Given the description of an element on the screen output the (x, y) to click on. 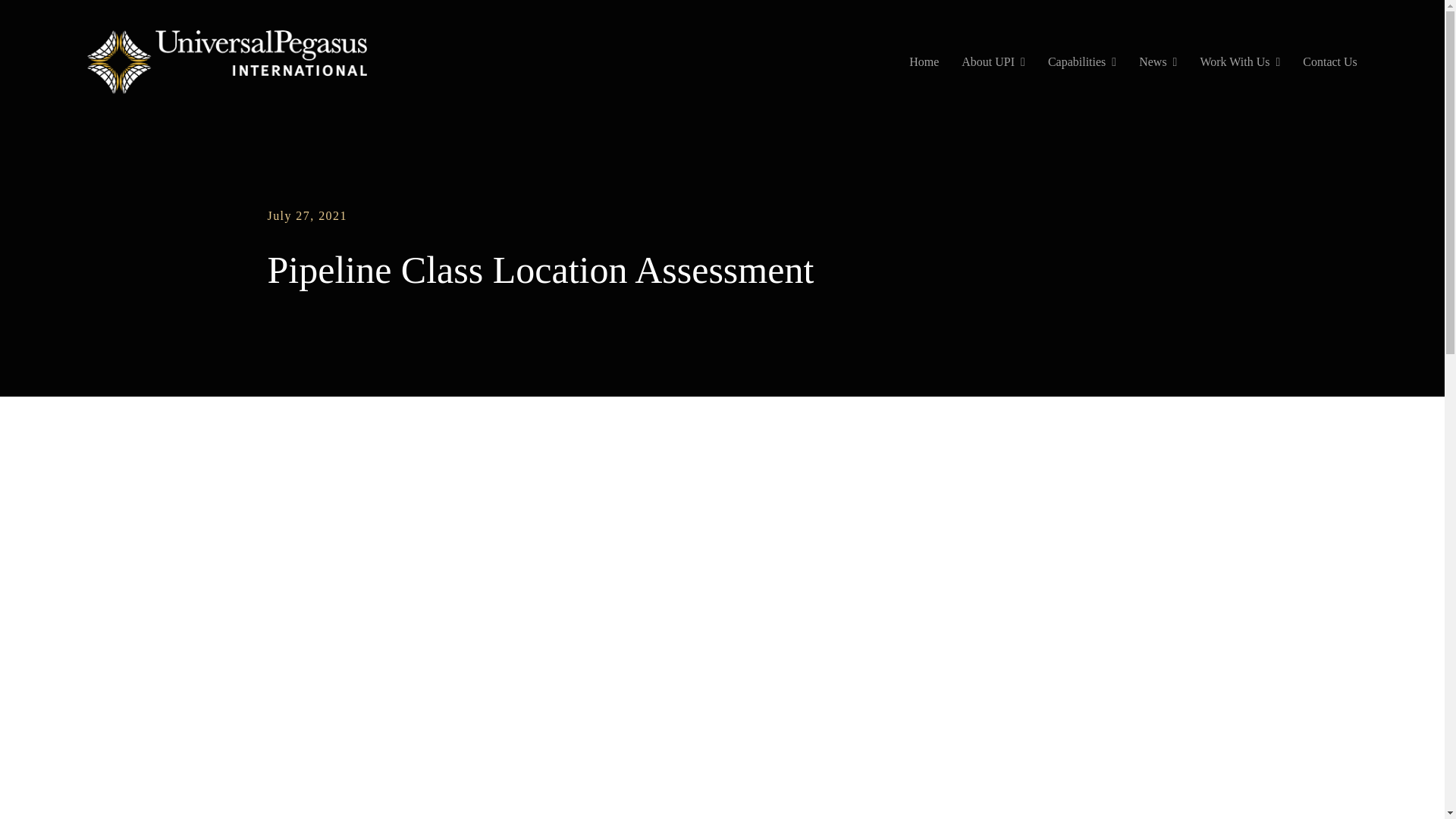
Contact Us (1329, 61)
Work With Us (1239, 61)
About UPI (992, 61)
Capabilities (1082, 61)
